Given the description of an element on the screen output the (x, y) to click on. 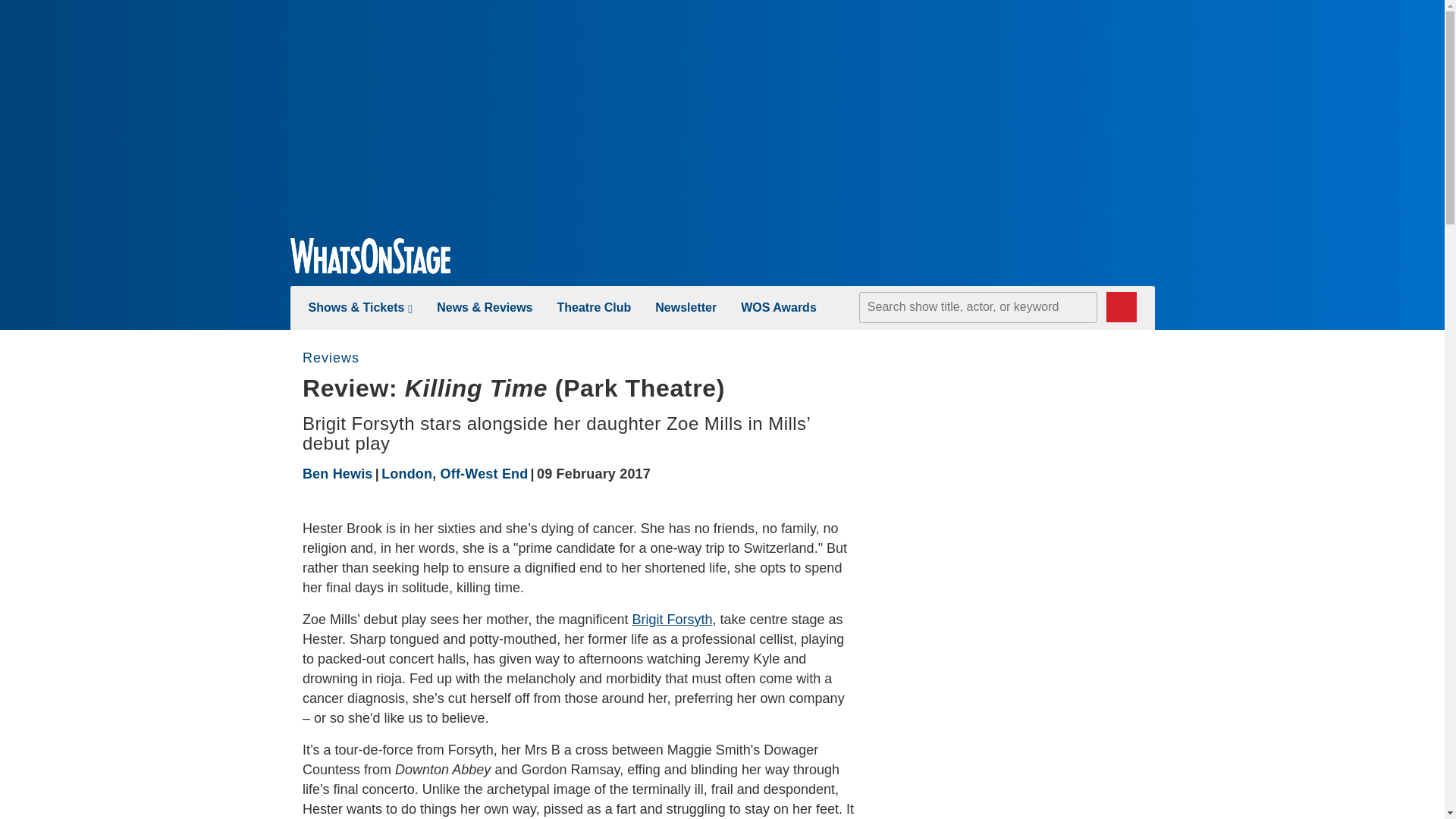
new-and-reviews-link (484, 307)
Newsletter (685, 307)
WOS Awards (778, 307)
Theatre Club (593, 307)
